Given the description of an element on the screen output the (x, y) to click on. 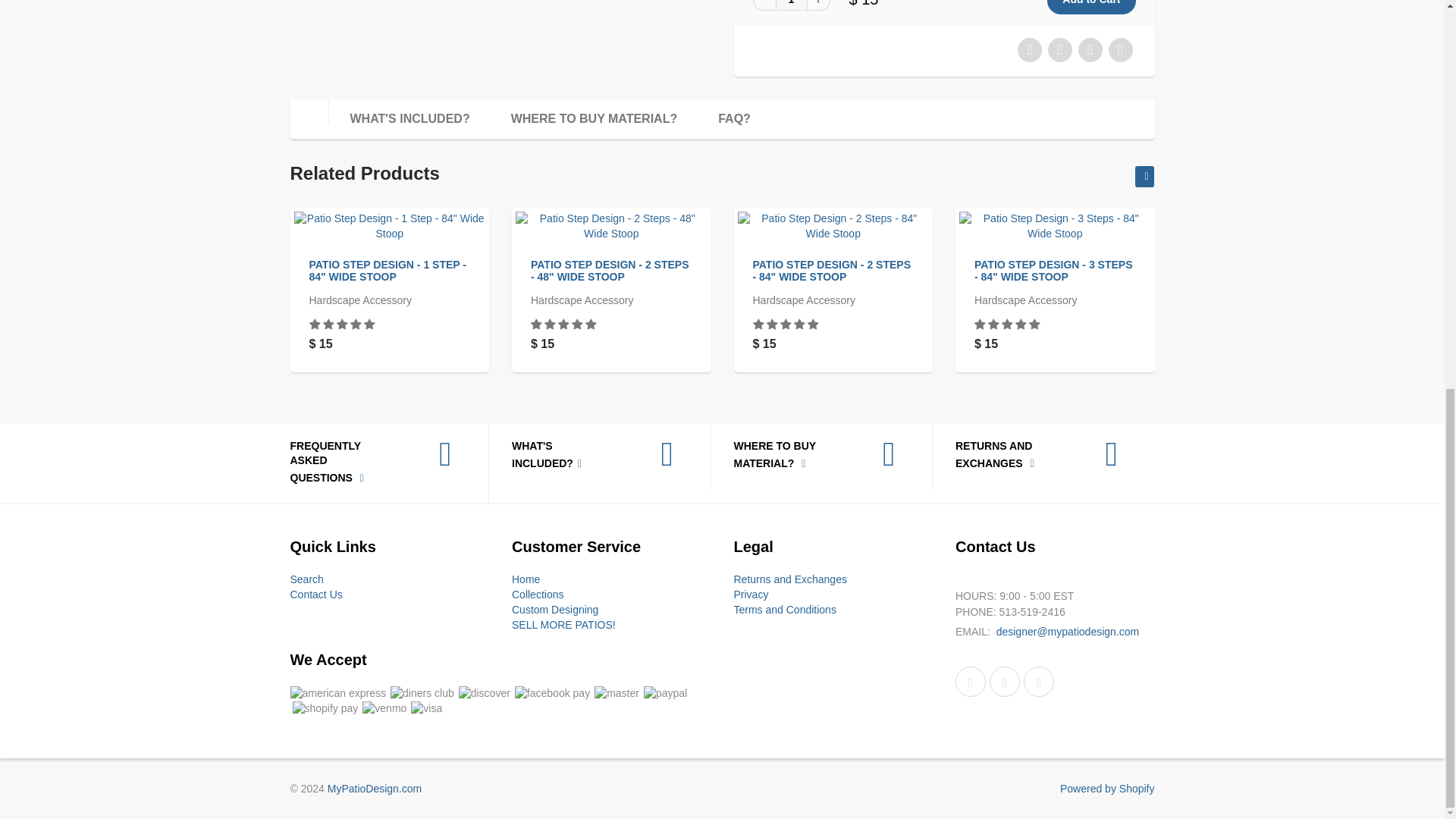
Pinterest (1005, 681)
Facebook (970, 681)
Add to Cart (1090, 7)
Instagram (1038, 681)
1 (790, 5)
